Given the description of an element on the screen output the (x, y) to click on. 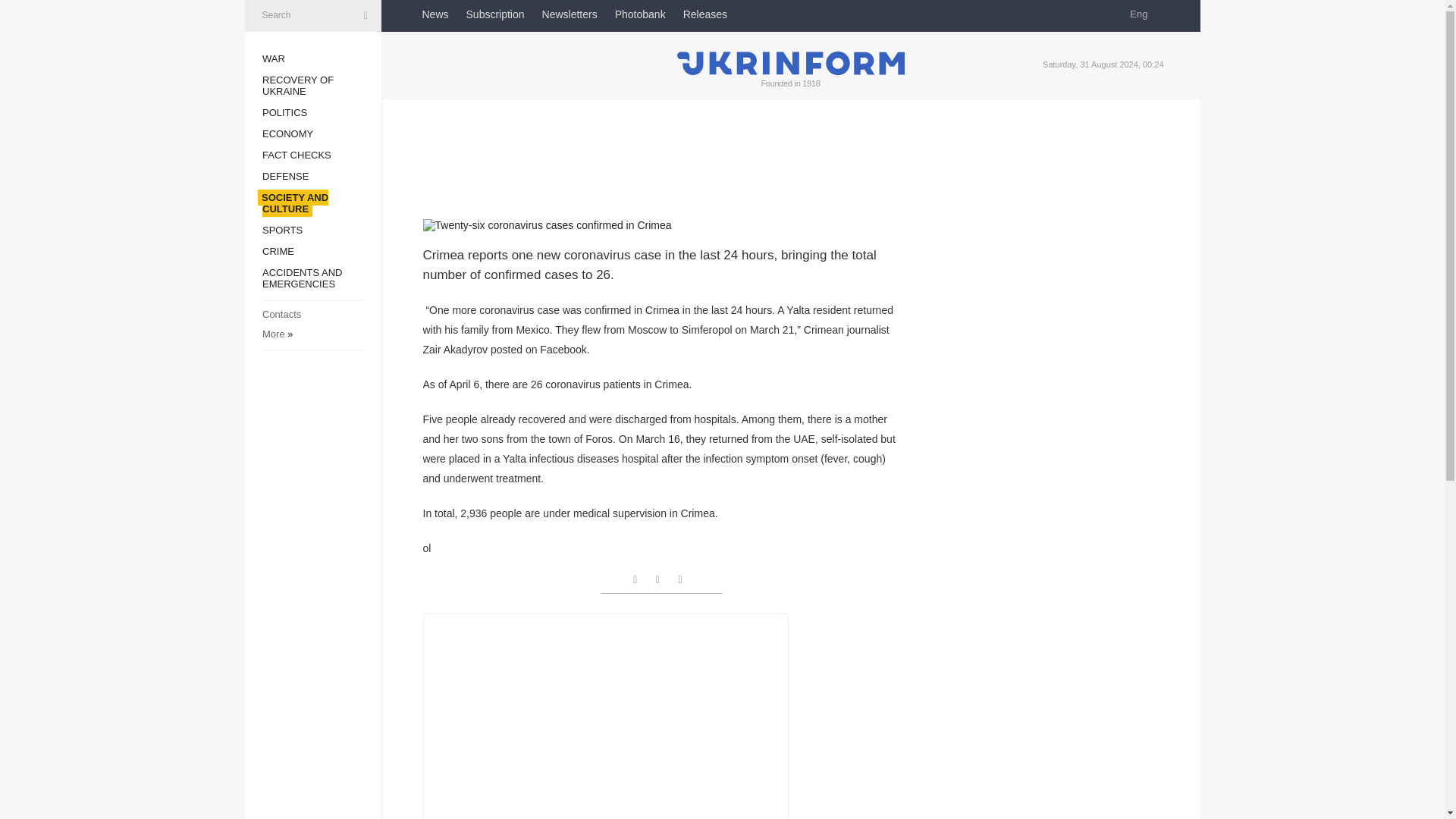
DEFENSE (285, 175)
News (435, 14)
Releases (704, 14)
Contacts (281, 314)
FACT CHECKS (296, 154)
SPORTS (282, 229)
ACCIDENTS AND EMERGENCIES (302, 277)
Subscription (494, 14)
ECONOMY (287, 133)
CRIME (278, 251)
